Given the description of an element on the screen output the (x, y) to click on. 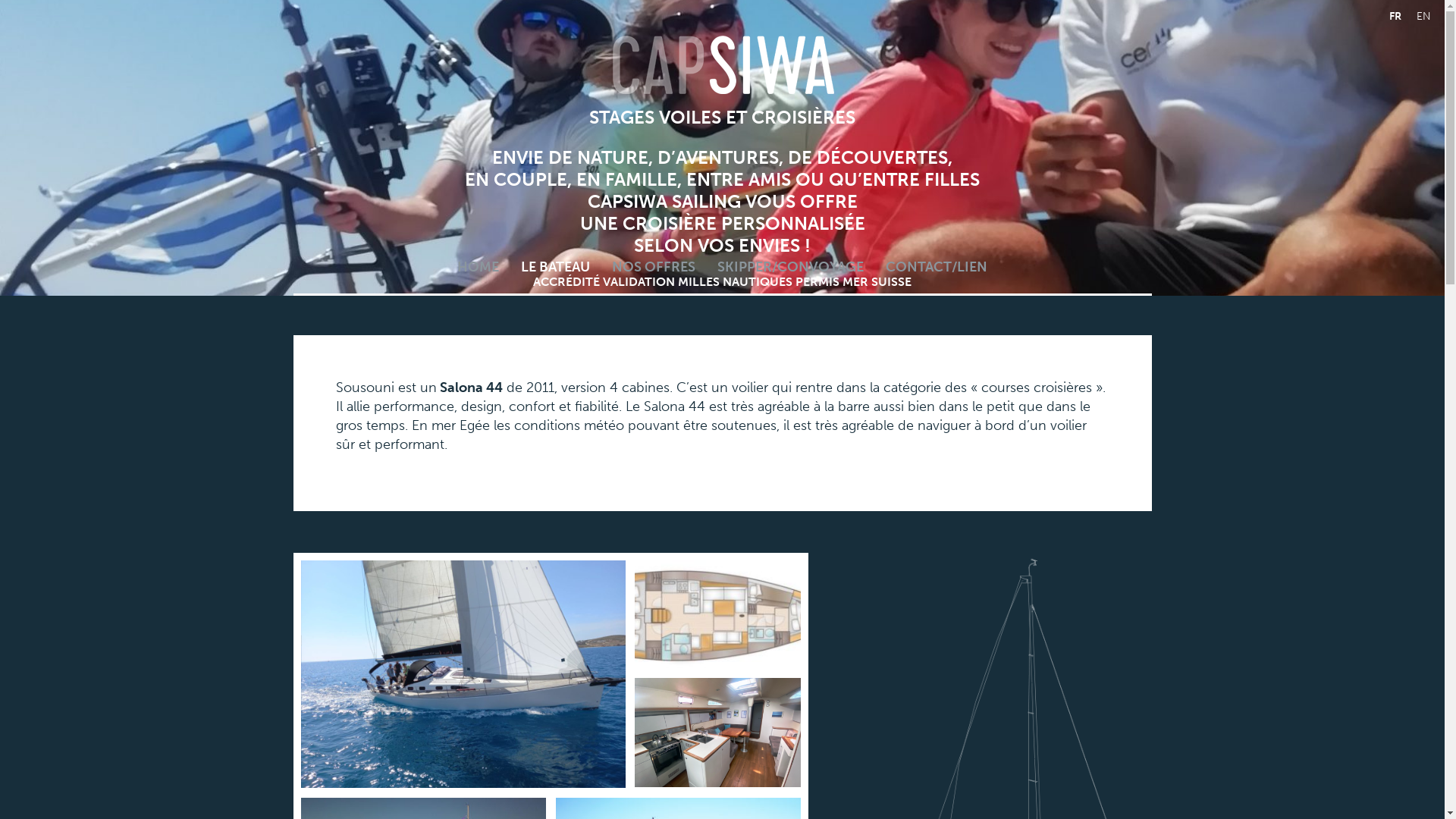
NOS OFFRES Element type: text (653, 267)
FR Element type: text (1394, 15)
CONTACT/LIEN Element type: text (936, 267)
LE BATEAU Element type: text (555, 267)
EN Element type: text (1423, 15)
SKIPPER/CONVOYAGE Element type: text (790, 267)
HOME Element type: text (477, 267)
